Given the description of an element on the screen output the (x, y) to click on. 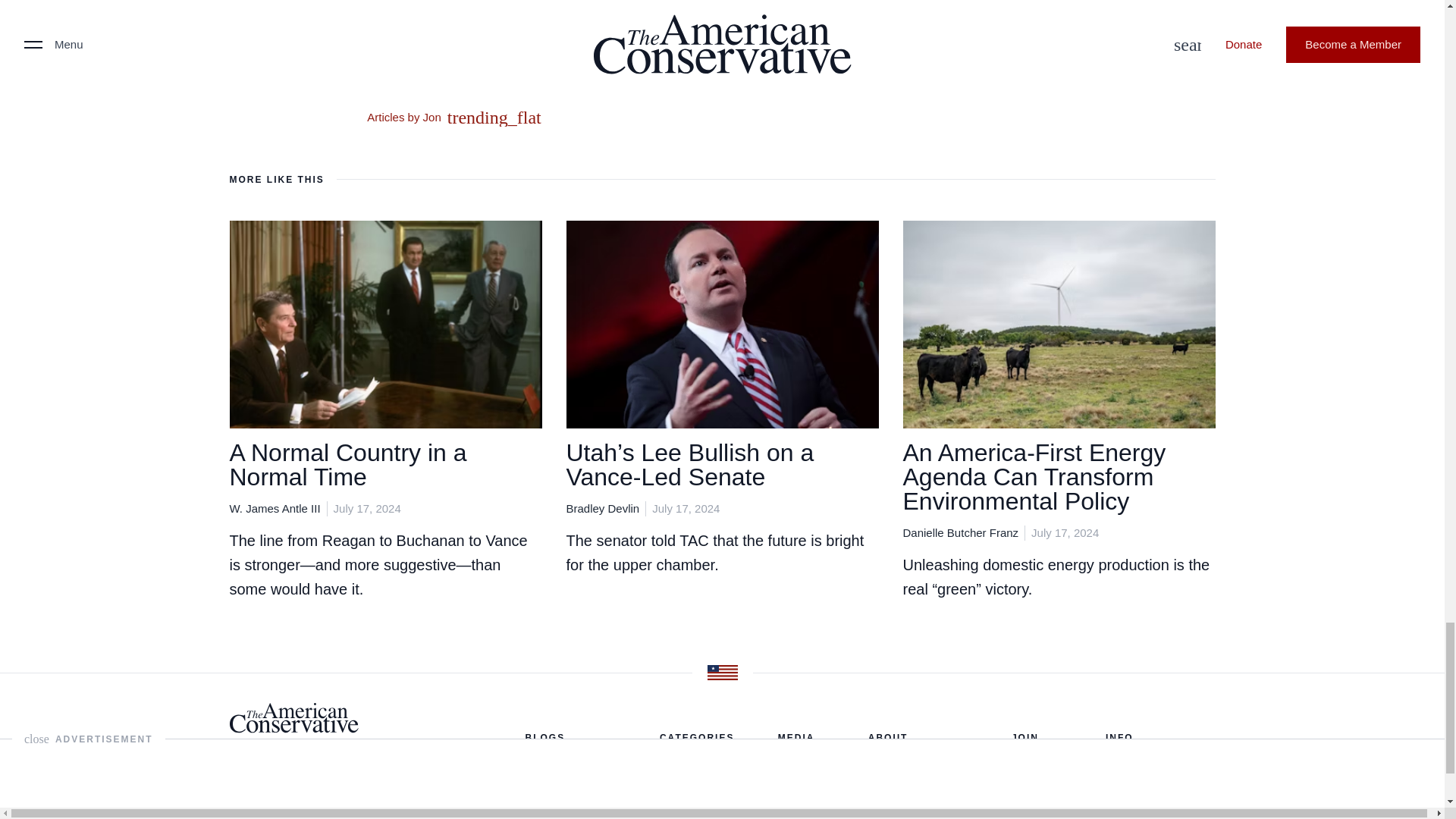
W. James Antle III (274, 508)
A Normal Country in a Normal Time (346, 464)
